Given the description of an element on the screen output the (x, y) to click on. 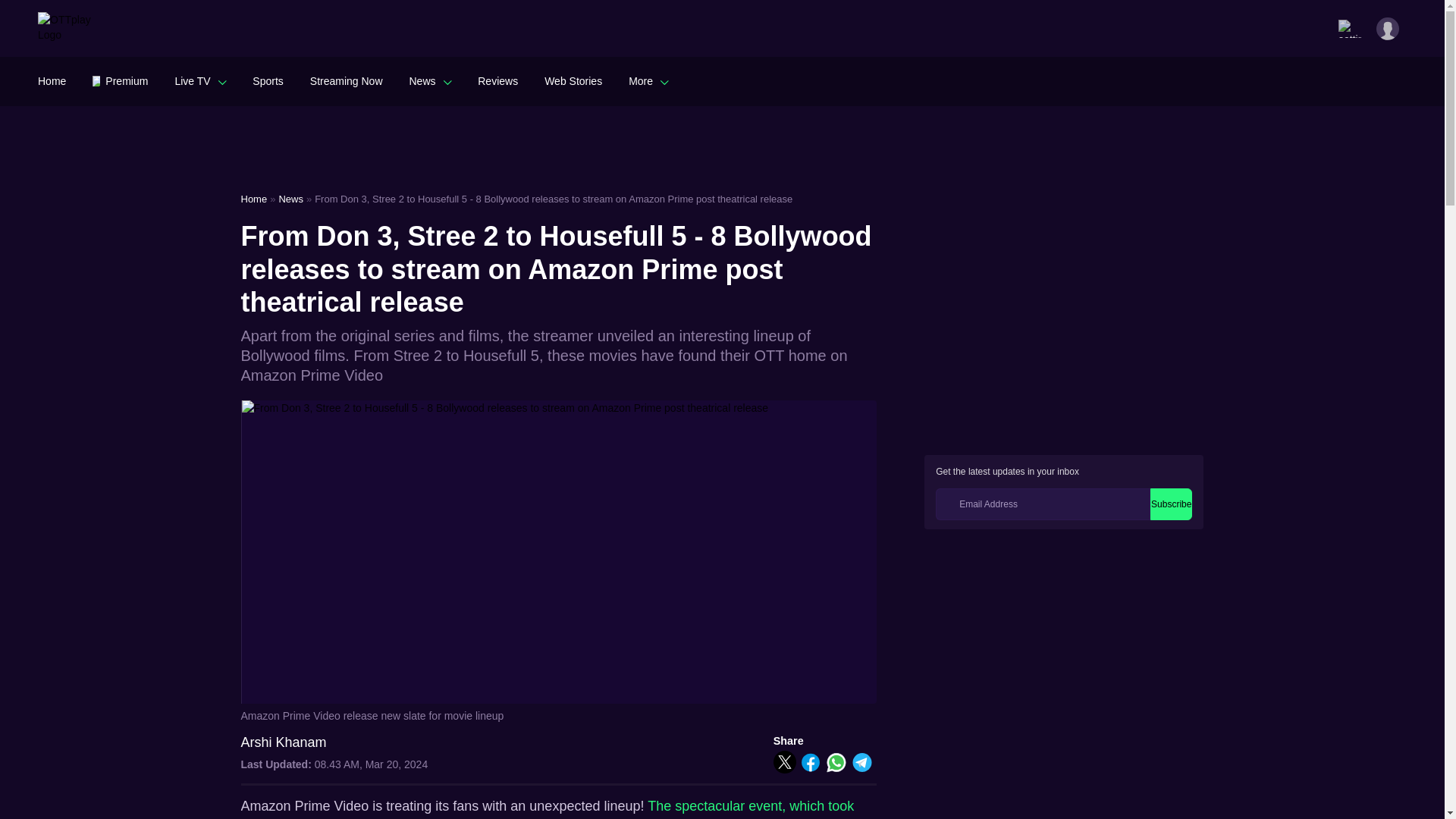
Web Stories (573, 80)
Premium (120, 80)
News (430, 80)
Streaming Now (346, 80)
Live TV (199, 80)
